Given the description of an element on the screen output the (x, y) to click on. 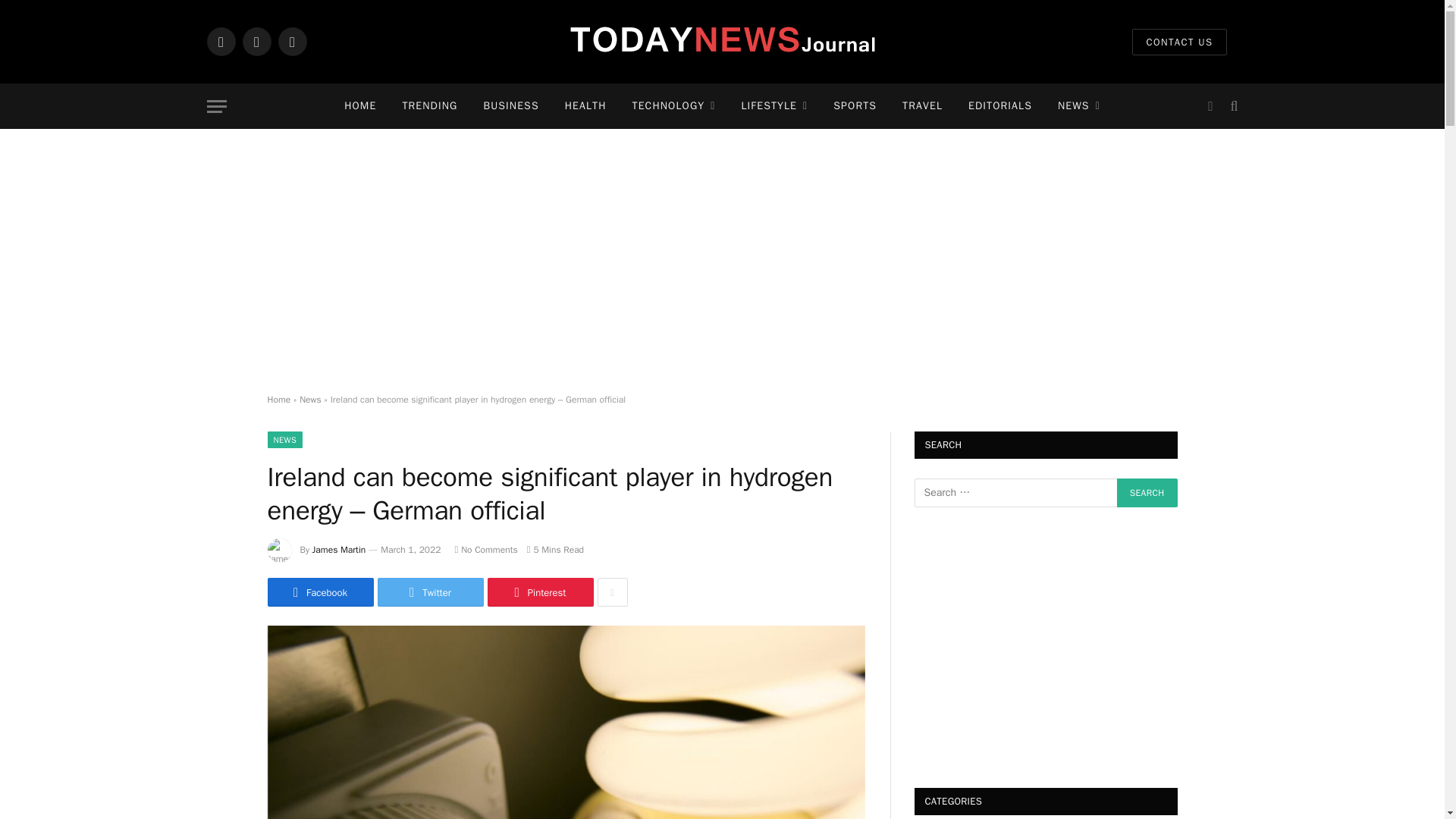
TRENDING (429, 105)
NEWS (1079, 105)
Posts by James Martin (339, 549)
TECHNOLOGY (674, 105)
BUSINESS (510, 105)
HEALTH (585, 105)
SPORTS (855, 105)
TRAVEL (922, 105)
CONTACT US (1178, 41)
Facebook (220, 41)
Switch to Dark Design - easier on eyes. (1209, 106)
Home (277, 399)
Search (1146, 492)
Share on Facebook (319, 592)
